Given the description of an element on the screen output the (x, y) to click on. 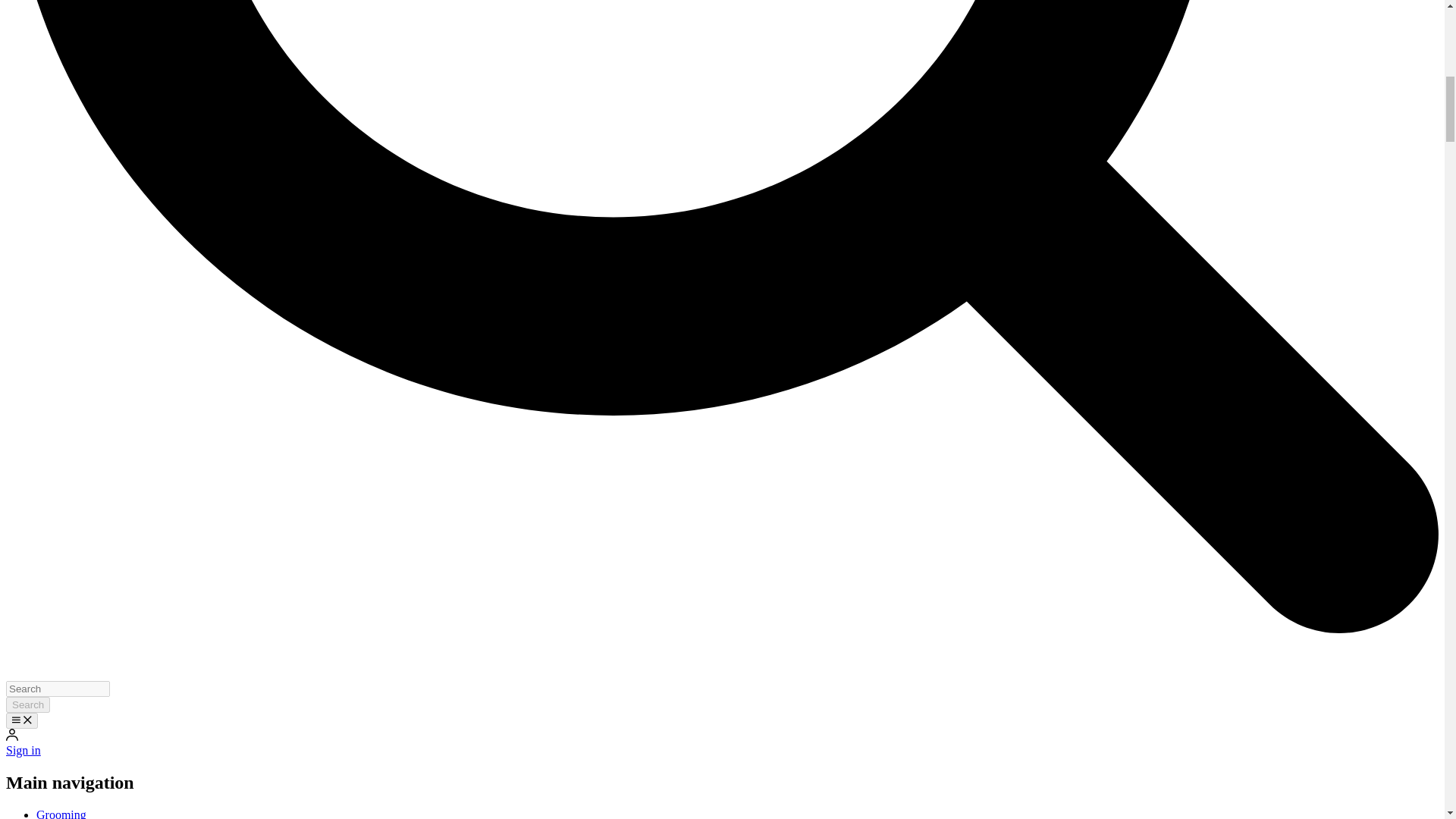
Grooming (60, 813)
Enter the terms you wish to search for. (57, 688)
Search (27, 704)
Search (27, 704)
Search (27, 704)
